Given the description of an element on the screen output the (x, y) to click on. 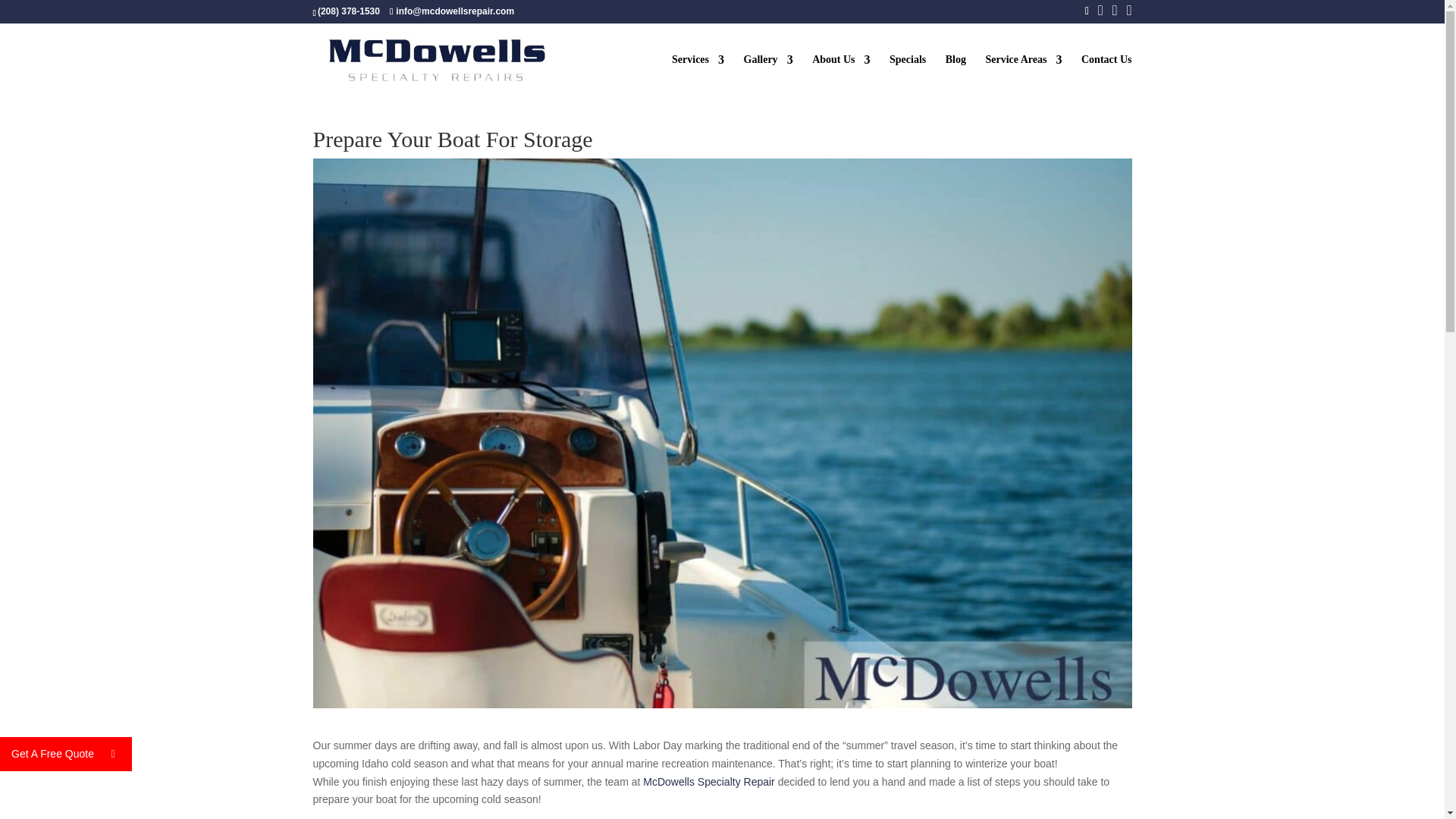
Services (697, 75)
About Us (840, 75)
Gallery (768, 75)
